Given the description of an element on the screen output the (x, y) to click on. 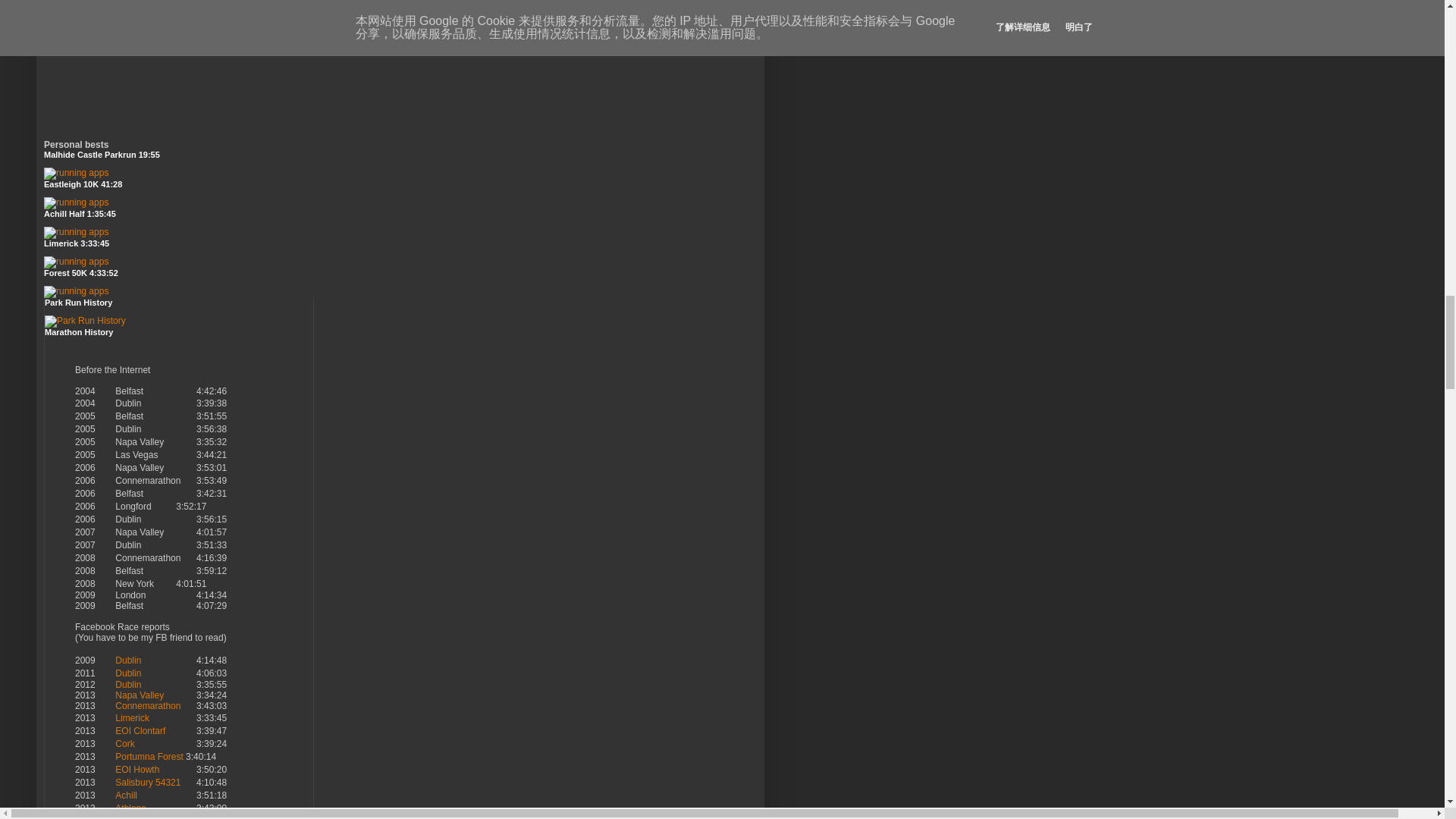
Cork (124, 743)
Salisbury 54321 (147, 782)
EOI Howth (136, 769)
Marathon PB Garmin Stats (75, 261)
Napa Valley (139, 695)
Dublin (128, 660)
5K PB Garmin stats (75, 172)
Connemarathon (147, 706)
Portumna Forest (149, 756)
EOI Clontarf (140, 730)
Newer Post (93, 0)
Dublin (128, 673)
Achill (125, 795)
Park Run History (85, 320)
Athlone (131, 808)
